Given the description of an element on the screen output the (x, y) to click on. 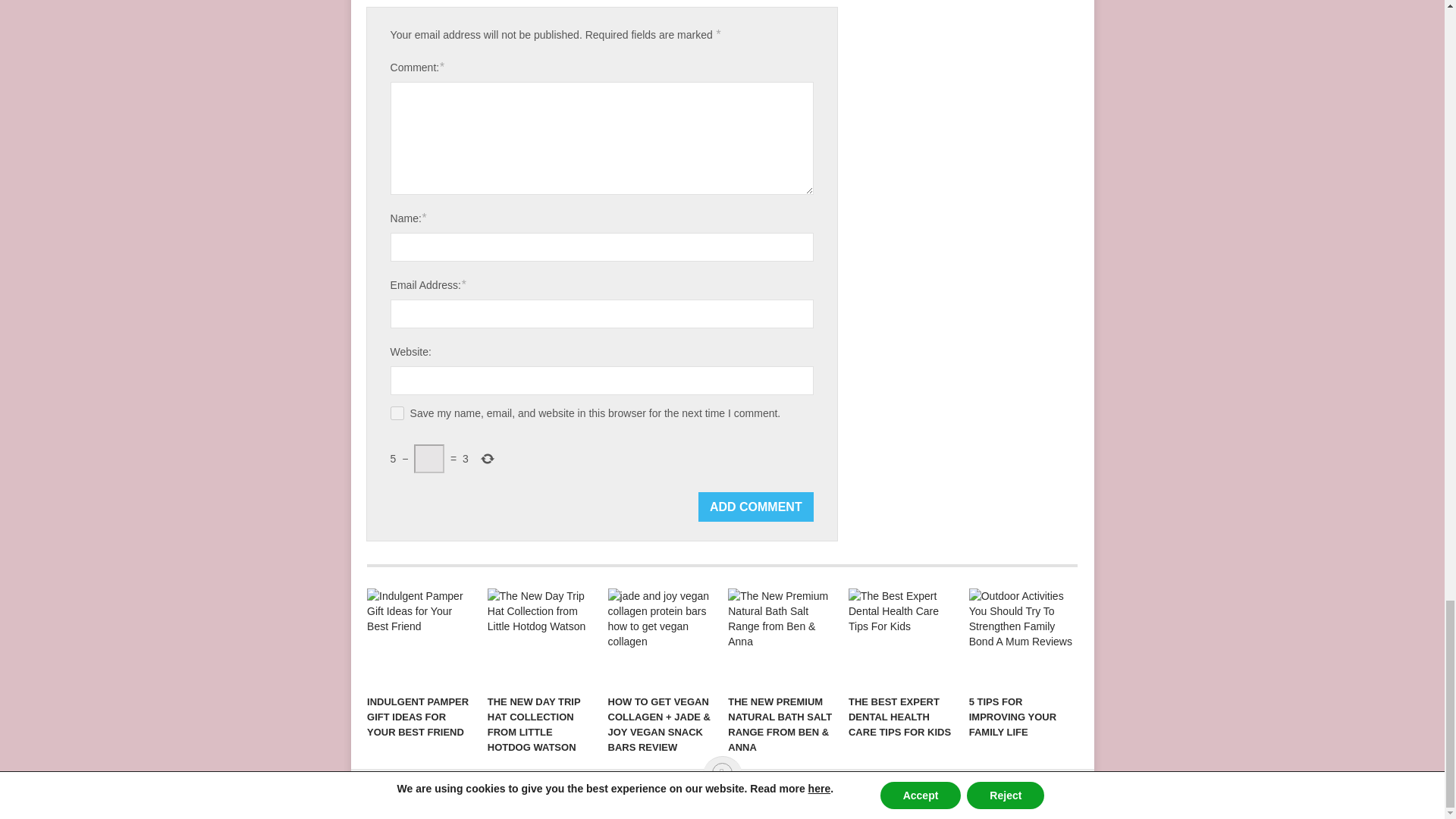
yes (397, 413)
The New Day Trip Hat Collection from Little Hotdog Watson (540, 637)
Indulgent Pamper Gift Ideas for Your Best Friend (419, 637)
Add Comment (755, 506)
